Given the description of an element on the screen output the (x, y) to click on. 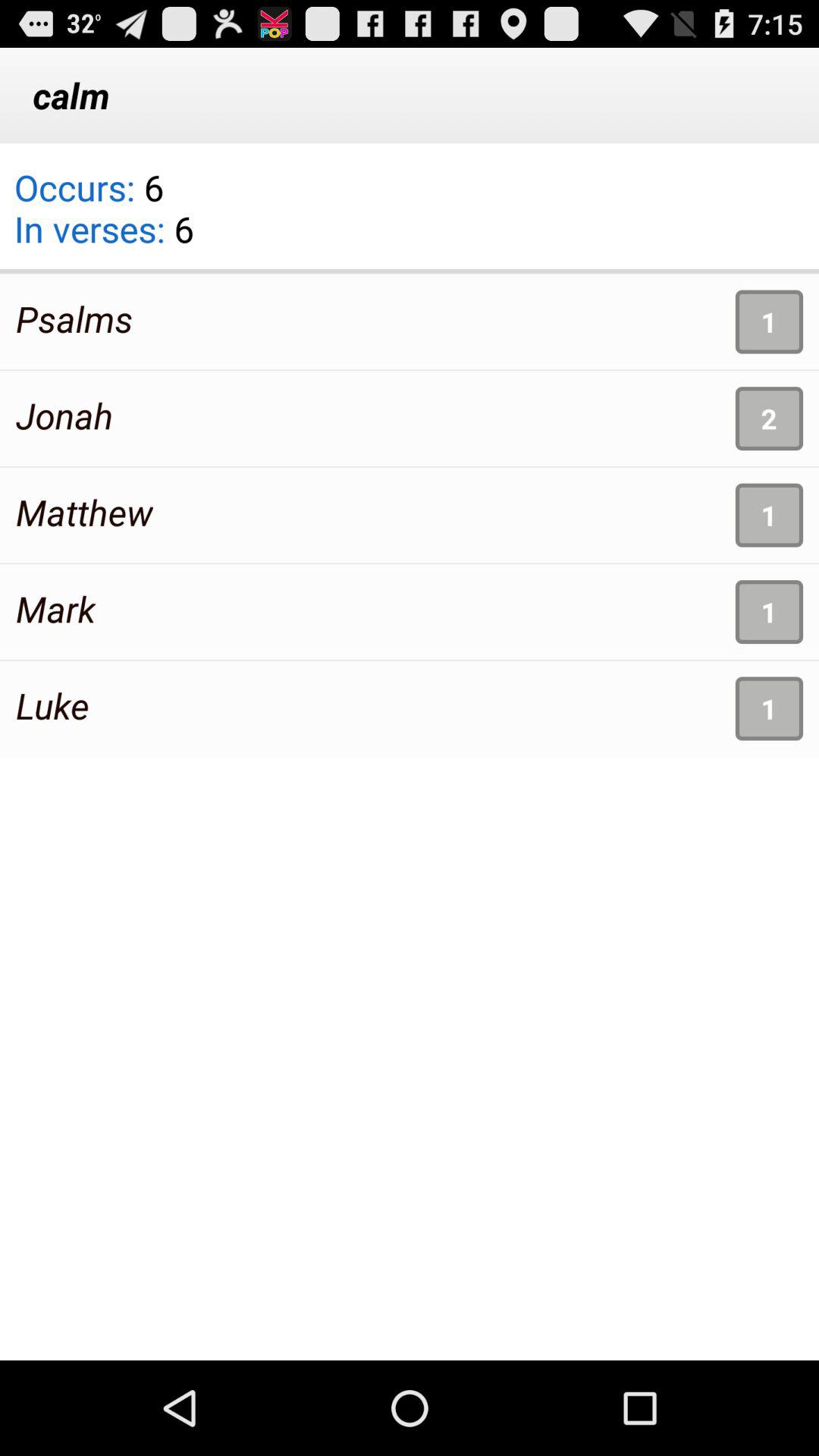
choose app above the mark item (83, 511)
